Given the description of an element on the screen output the (x, y) to click on. 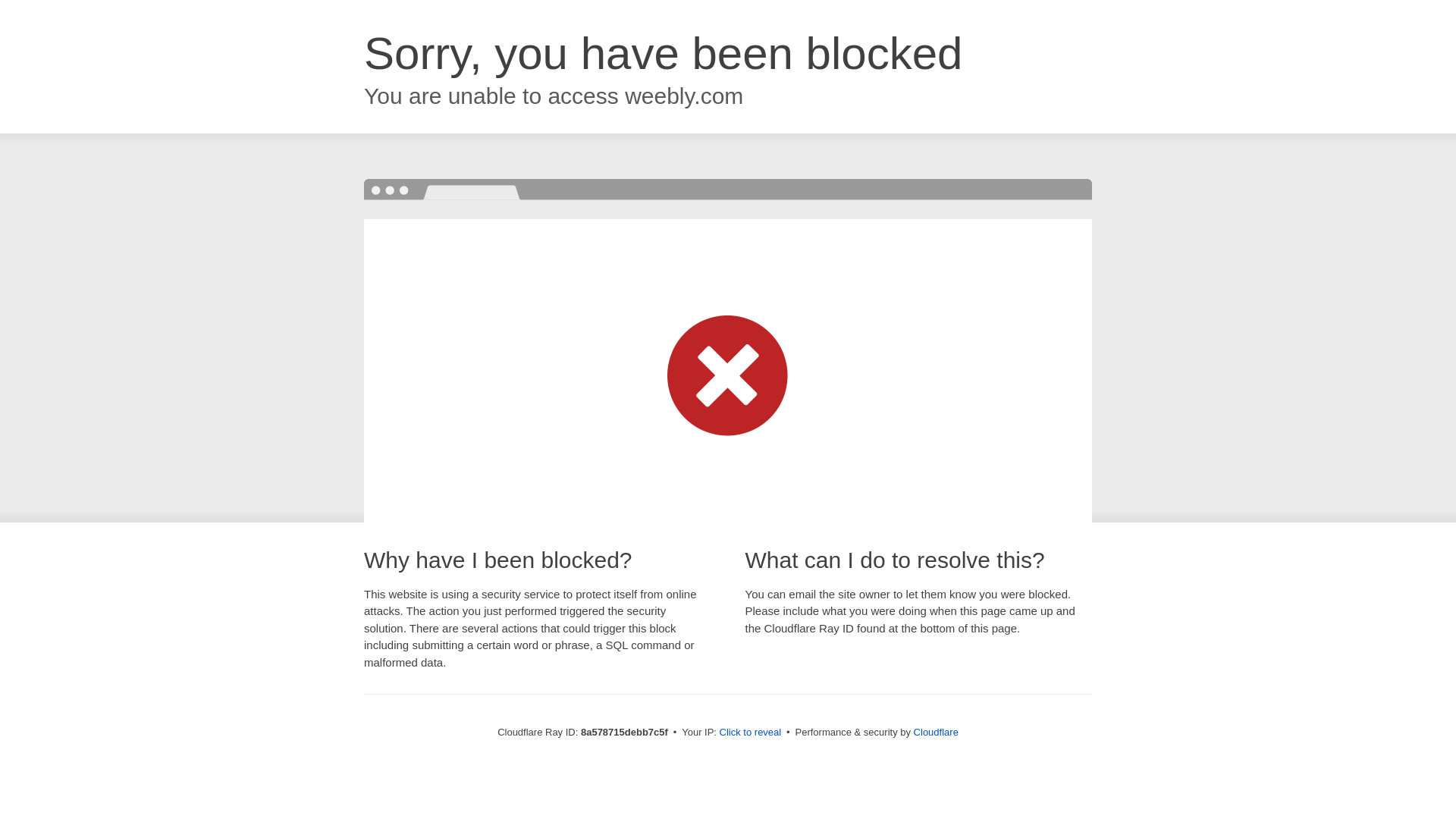
Click to reveal (750, 732)
Cloudflare (936, 731)
